Given the description of an element on the screen output the (x, y) to click on. 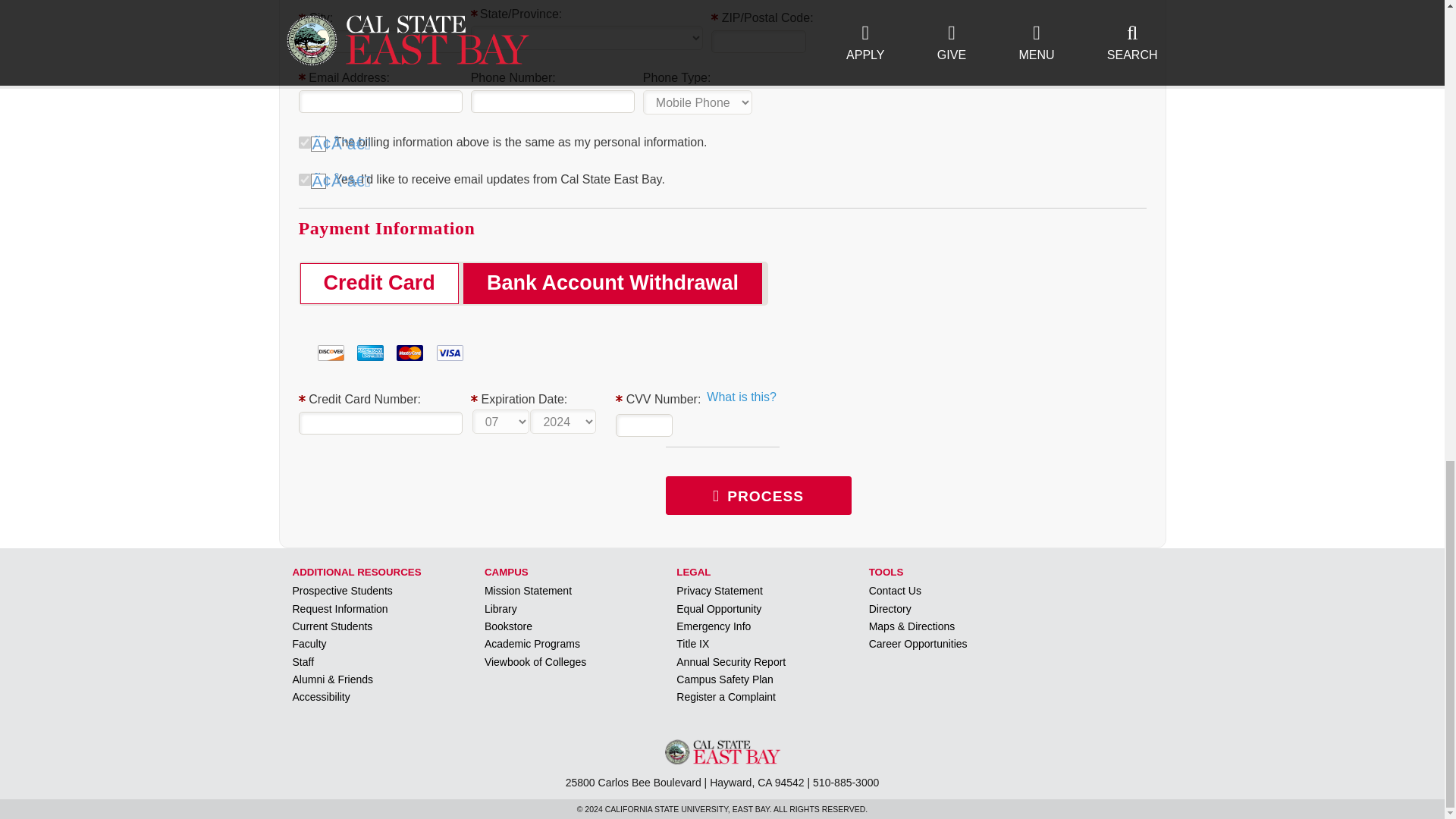
Campus Safety Plan- This link will open in a new window. (725, 679)
Annual Security Report- This link will open in a new window. (731, 661)
on (304, 142)
Viewbook of Colleges- This link will open in a new window. (535, 661)
What is this? Opens new window. (741, 396)
on (304, 179)
